Given the description of an element on the screen output the (x, y) to click on. 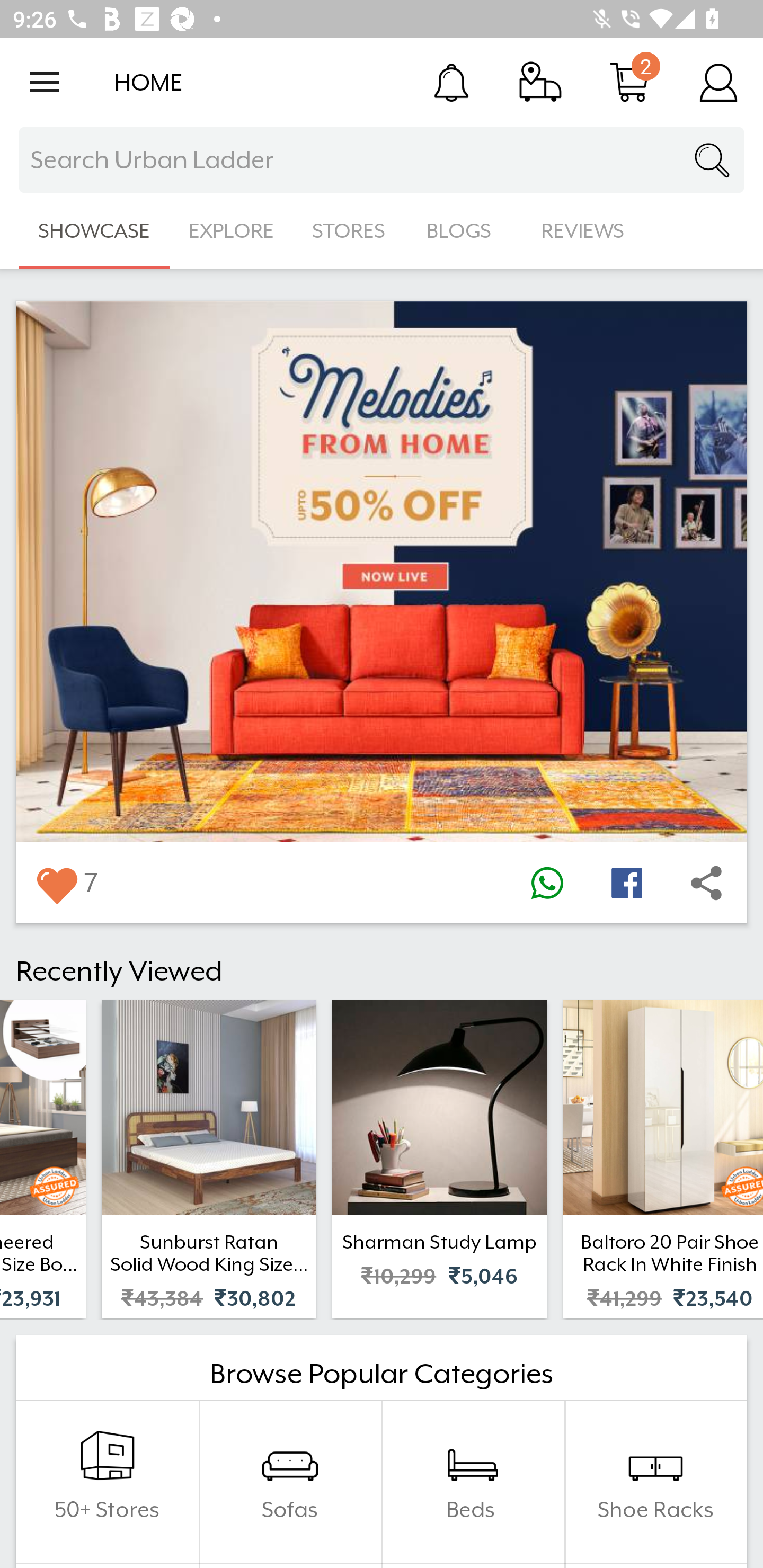
Open navigation drawer (44, 82)
Notification (450, 81)
Track Order (540, 81)
Cart (629, 81)
Account Details (718, 81)
Search Urban Ladder  (381, 159)
SHOWCASE (94, 230)
EXPLORE (230, 230)
STORES (349, 230)
BLOGS (464, 230)
REVIEWS (582, 230)
 (55, 882)
 (547, 882)
 (626, 882)
 (706, 882)
Sharman Study Lamp ₹10,299 ₹5,046 (439, 1159)
50+ Stores (106, 1481)
Sofas (289, 1481)
Beds  (473, 1481)
Shoe Racks (655, 1481)
